Given the description of an element on the screen output the (x, y) to click on. 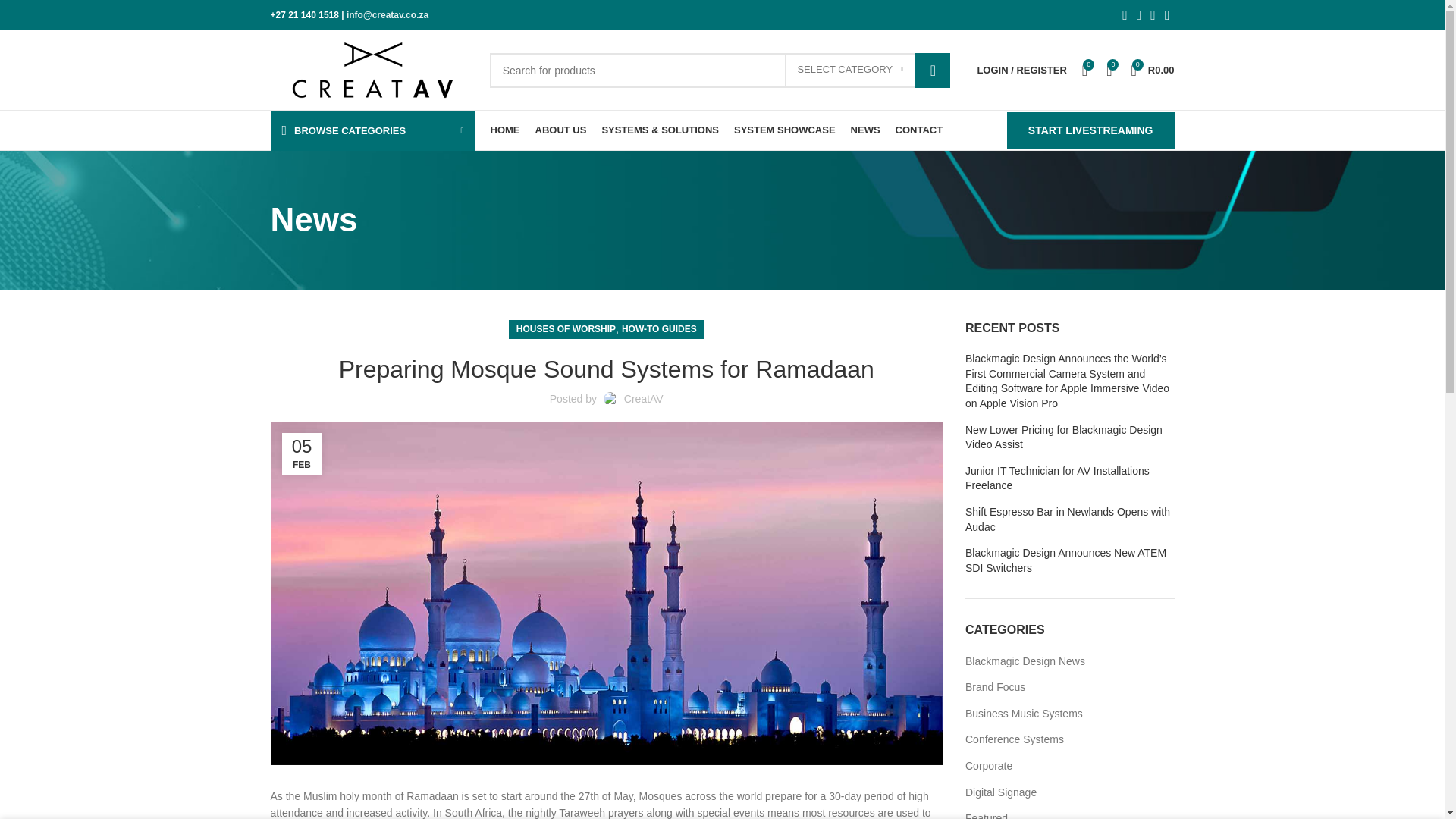
Search for products (719, 70)
Shopping cart (1151, 69)
My account (1021, 69)
SELECT CATEGORY (849, 70)
SELECT CATEGORY (849, 70)
